Given the description of an element on the screen output the (x, y) to click on. 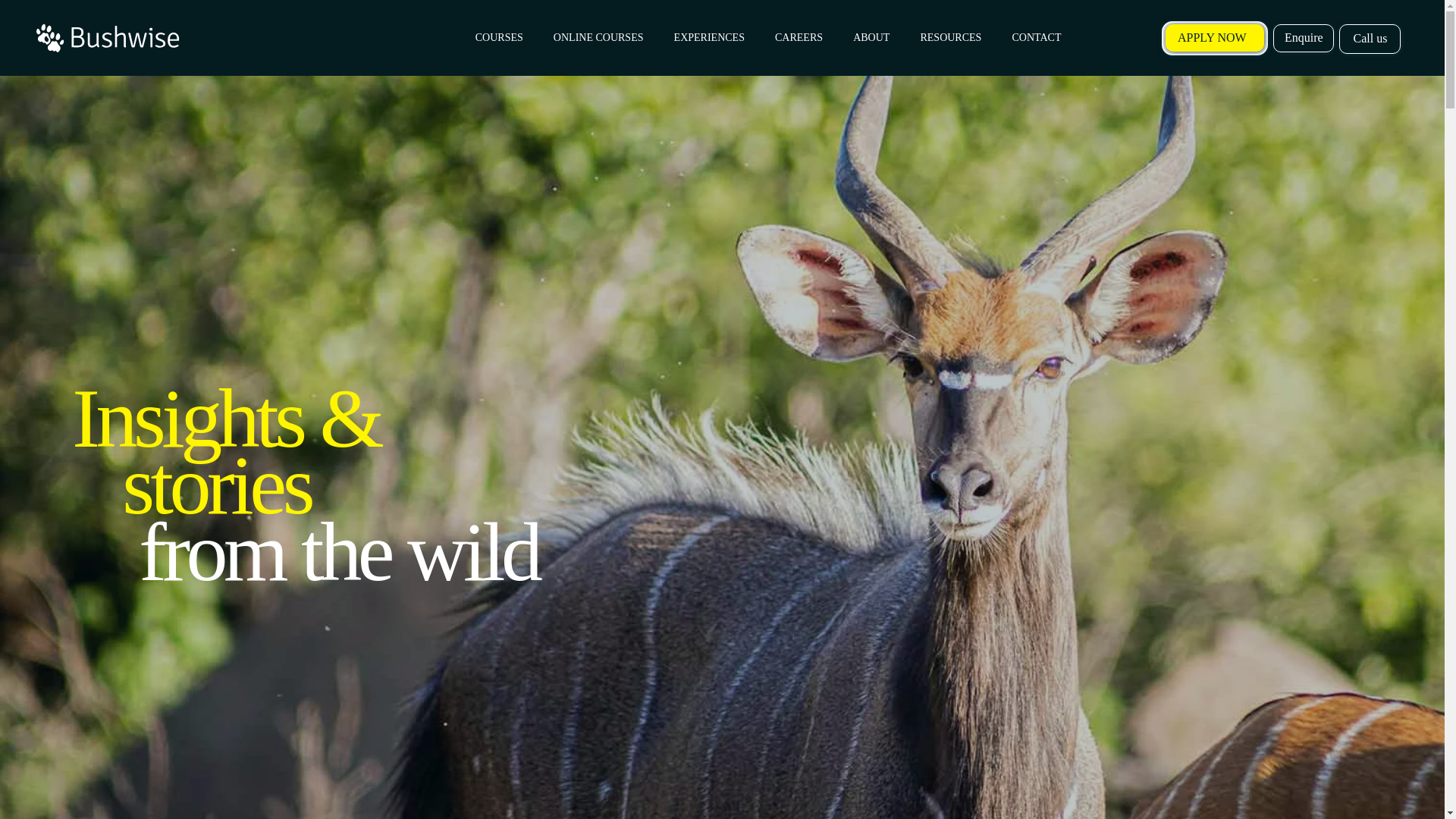
APPLY NOW (1214, 37)
Call us (1369, 39)
COURSES (499, 38)
ONLINE COURSES (598, 38)
CONTACT (1035, 38)
Enquire (1302, 38)
